Given the description of an element on the screen output the (x, y) to click on. 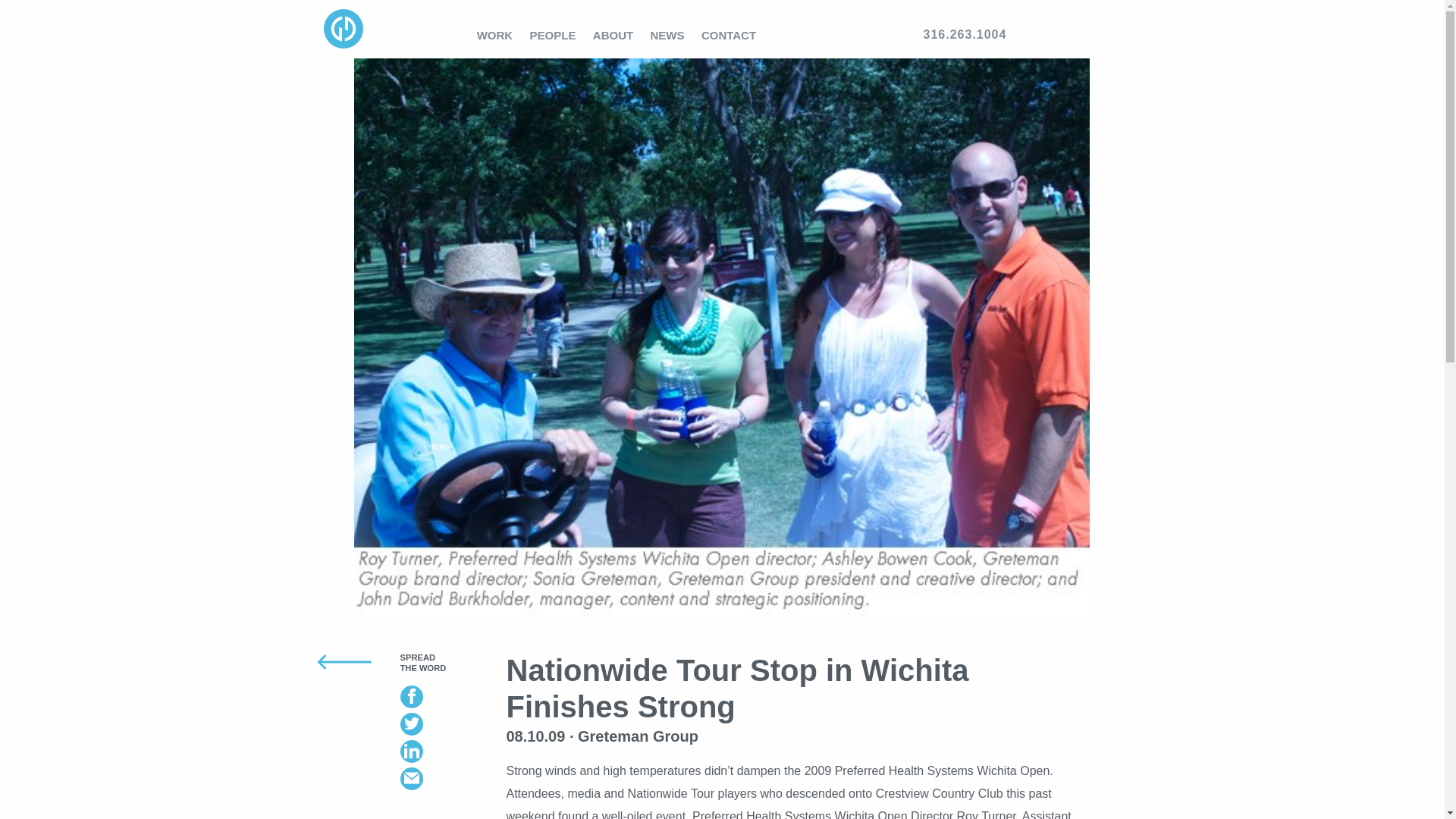
ABOUT (613, 35)
Go Back To News Index (326, 660)
Click to Share on Facebook (441, 696)
Greteman Group Home Page (343, 48)
Click to Share on LinkedIn (441, 751)
PEOPLE (552, 35)
Click to Share on Twitter (441, 723)
